Given the description of an element on the screen output the (x, y) to click on. 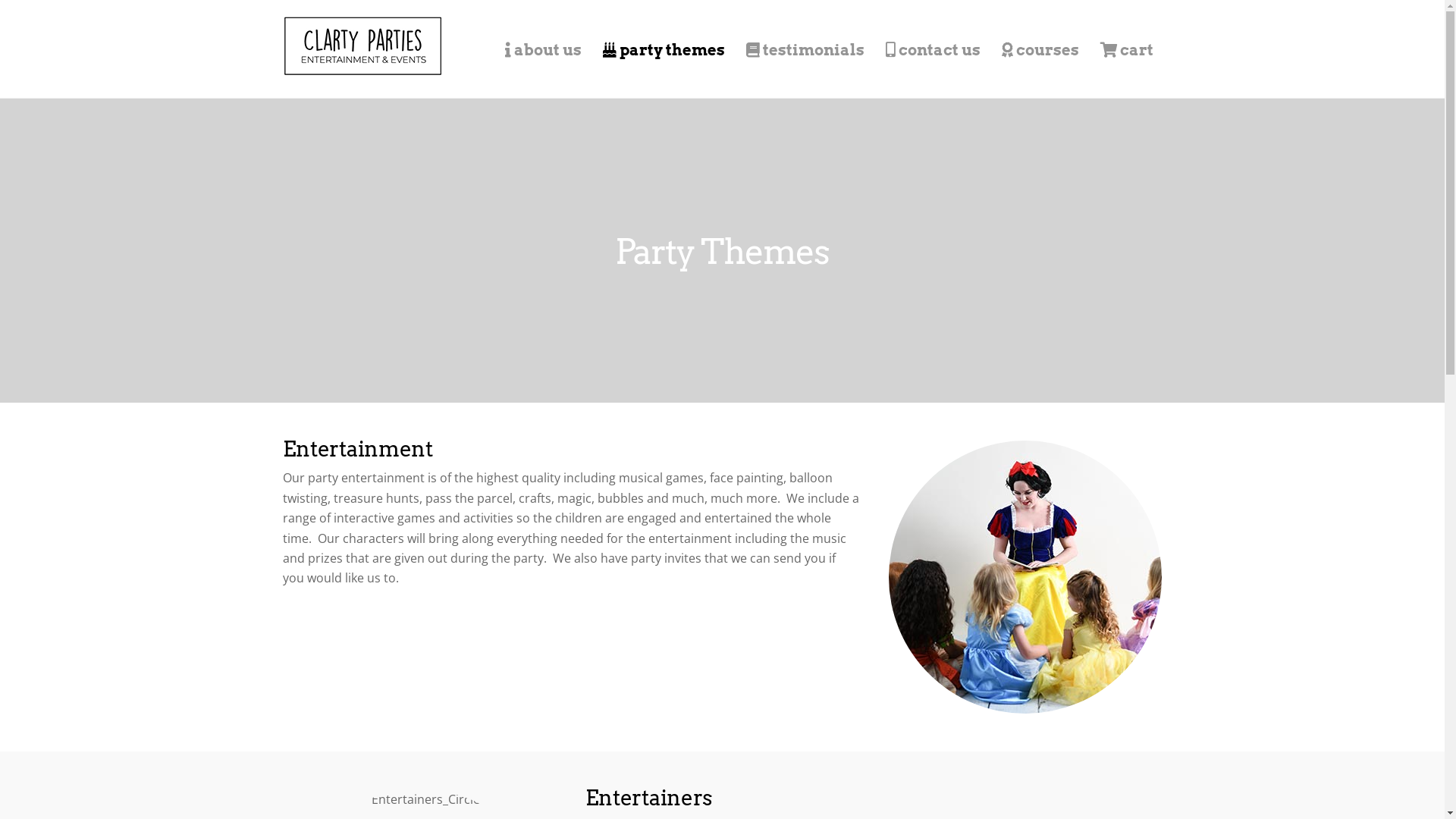
contact us Element type: text (932, 50)
Logo_Header_New_Rect Element type: hover (362, 45)
Clarty Parties Element type: hover (362, 67)
about us Element type: text (542, 50)
testimonials Element type: text (805, 50)
cart Element type: text (1125, 50)
party themes Element type: text (663, 50)
courses Element type: text (1039, 50)
Entertainment_Circle Element type: hover (1024, 576)
